Given the description of an element on the screen output the (x, y) to click on. 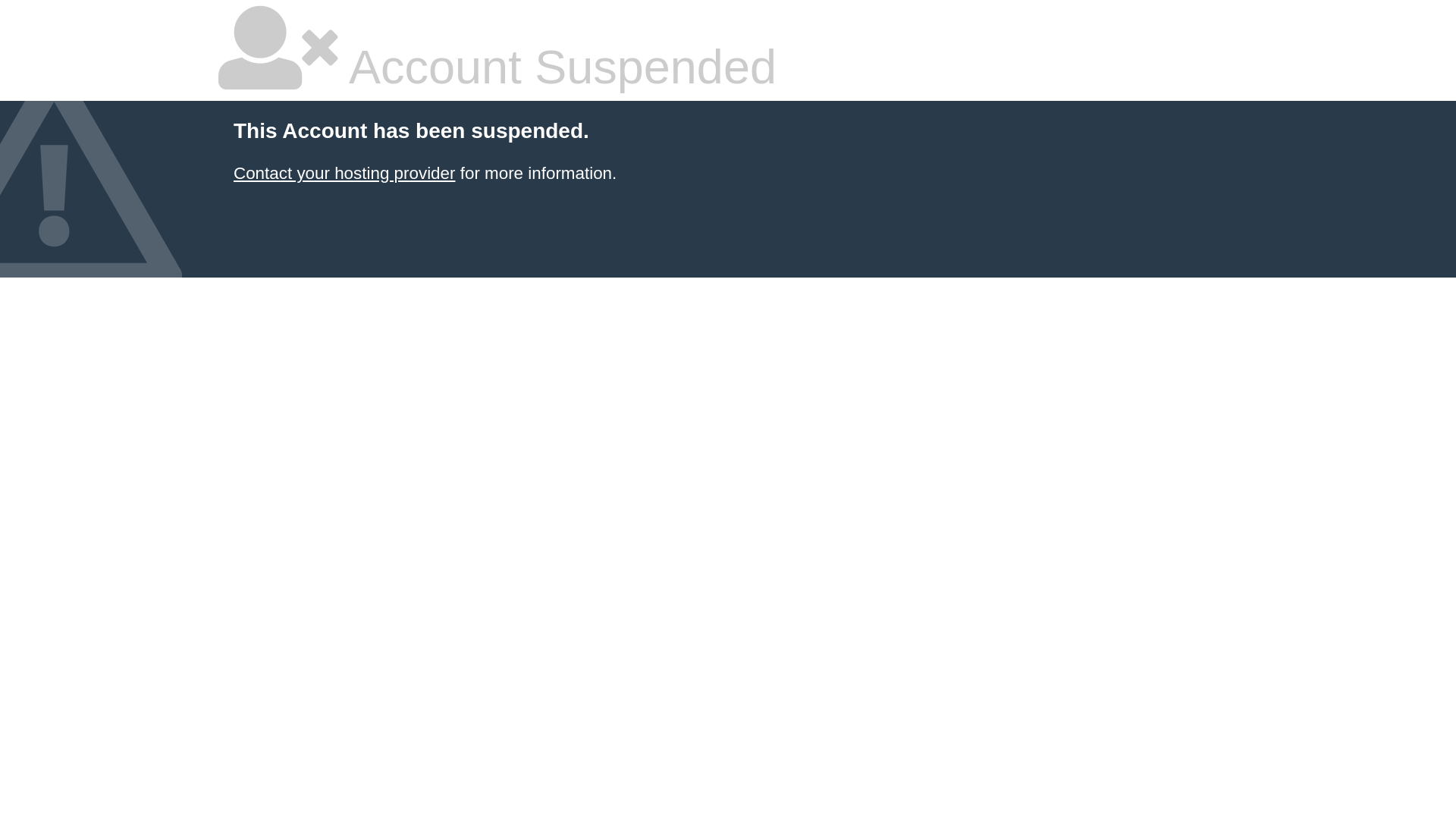
Contact your hosting provider Element type: text (344, 172)
